Given the description of an element on the screen output the (x, y) to click on. 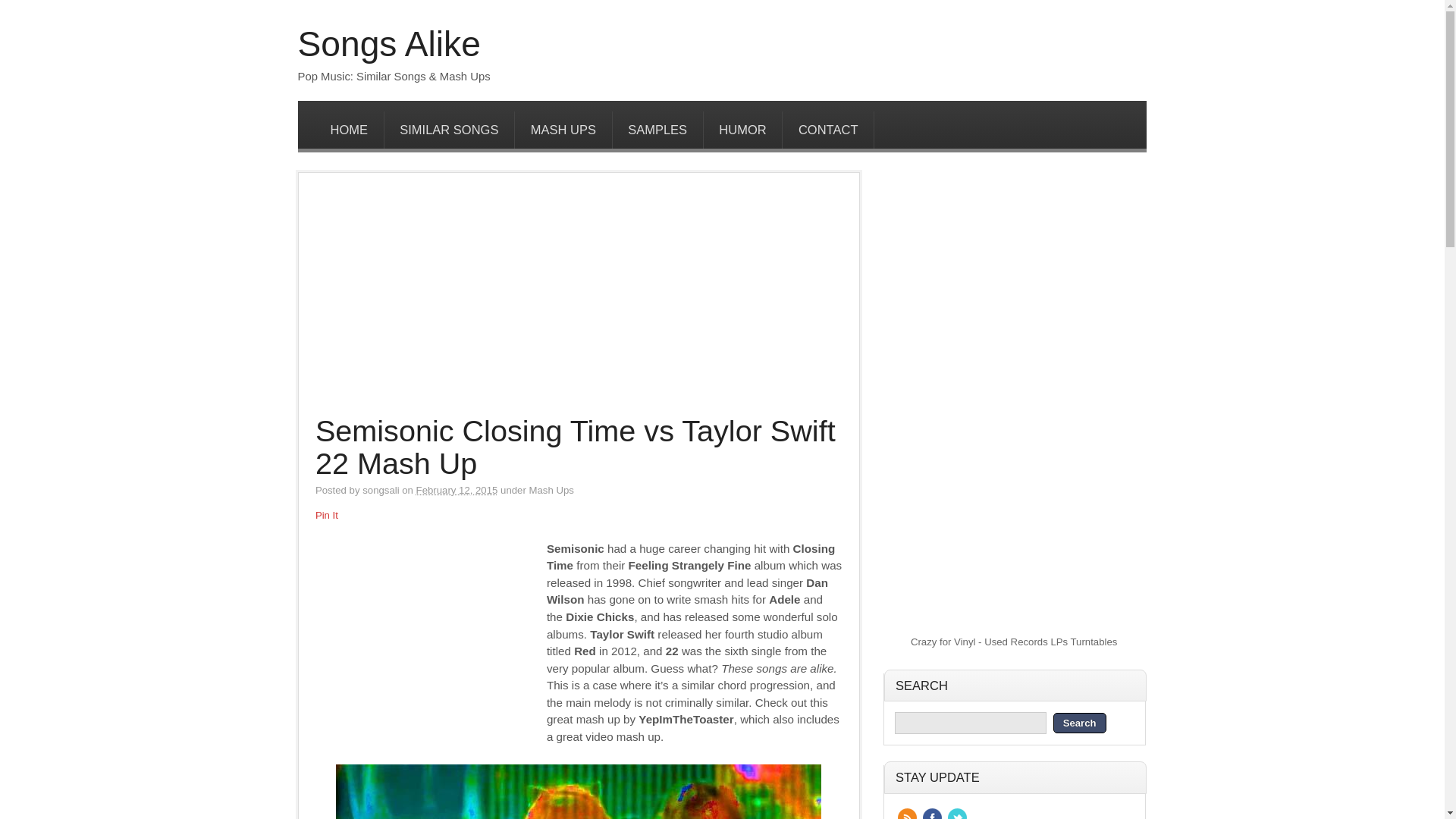
MASH UPS (563, 130)
Songs Alike (388, 43)
SAMPLES (657, 130)
Search (1079, 722)
Crazy for Vinyl - Used Records LPs Turntables (1013, 641)
Search (1079, 722)
HUMOR (743, 130)
Mash Ups (550, 490)
SIMILAR SONGS (449, 130)
Advertisement (578, 302)
